Given the description of an element on the screen output the (x, y) to click on. 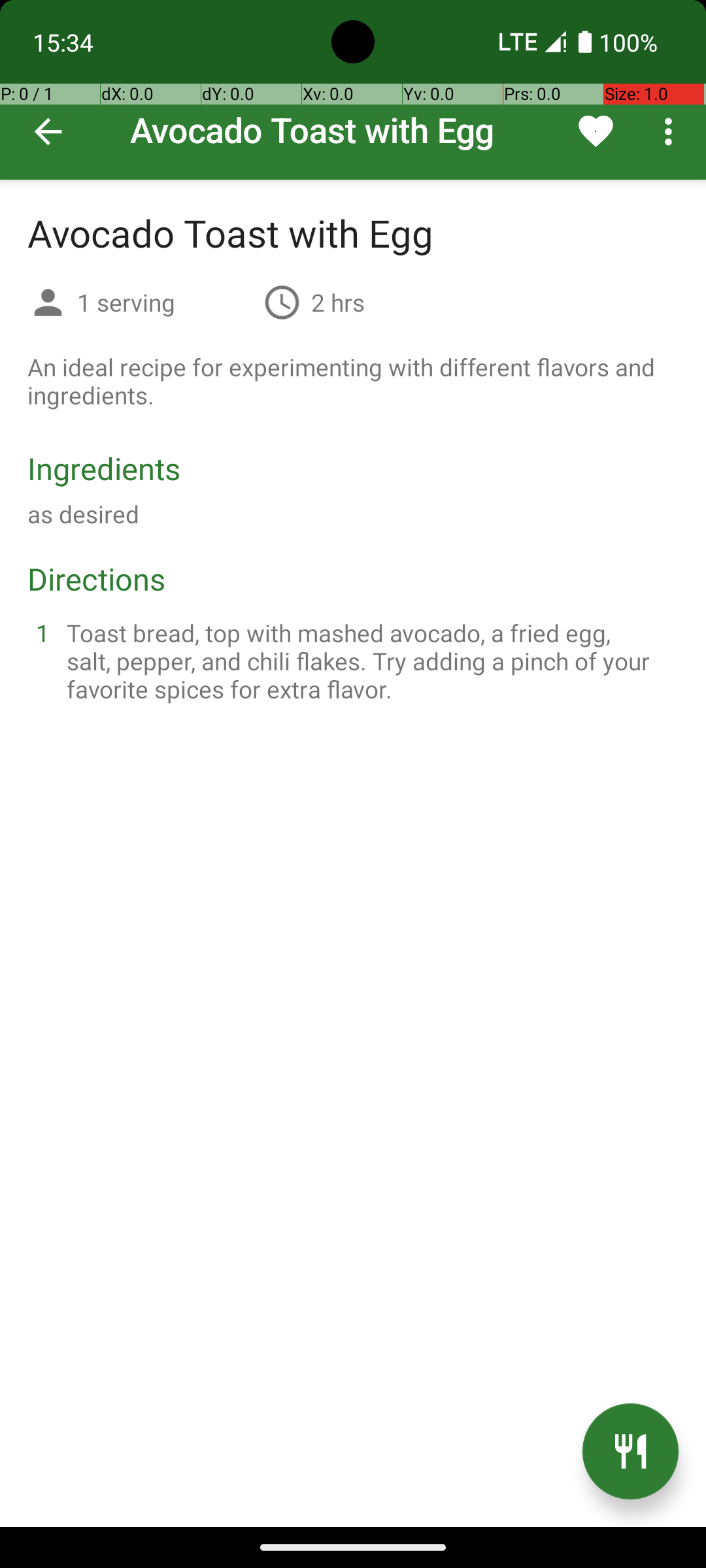
as desired Element type: android.widget.TextView (83, 513)
Toast bread, top with mashed avocado, a fried egg, salt, pepper, and chili flakes. Try adding a pinch of your favorite spices for extra flavor. Element type: android.widget.TextView (368, 660)
